Given the description of an element on the screen output the (x, y) to click on. 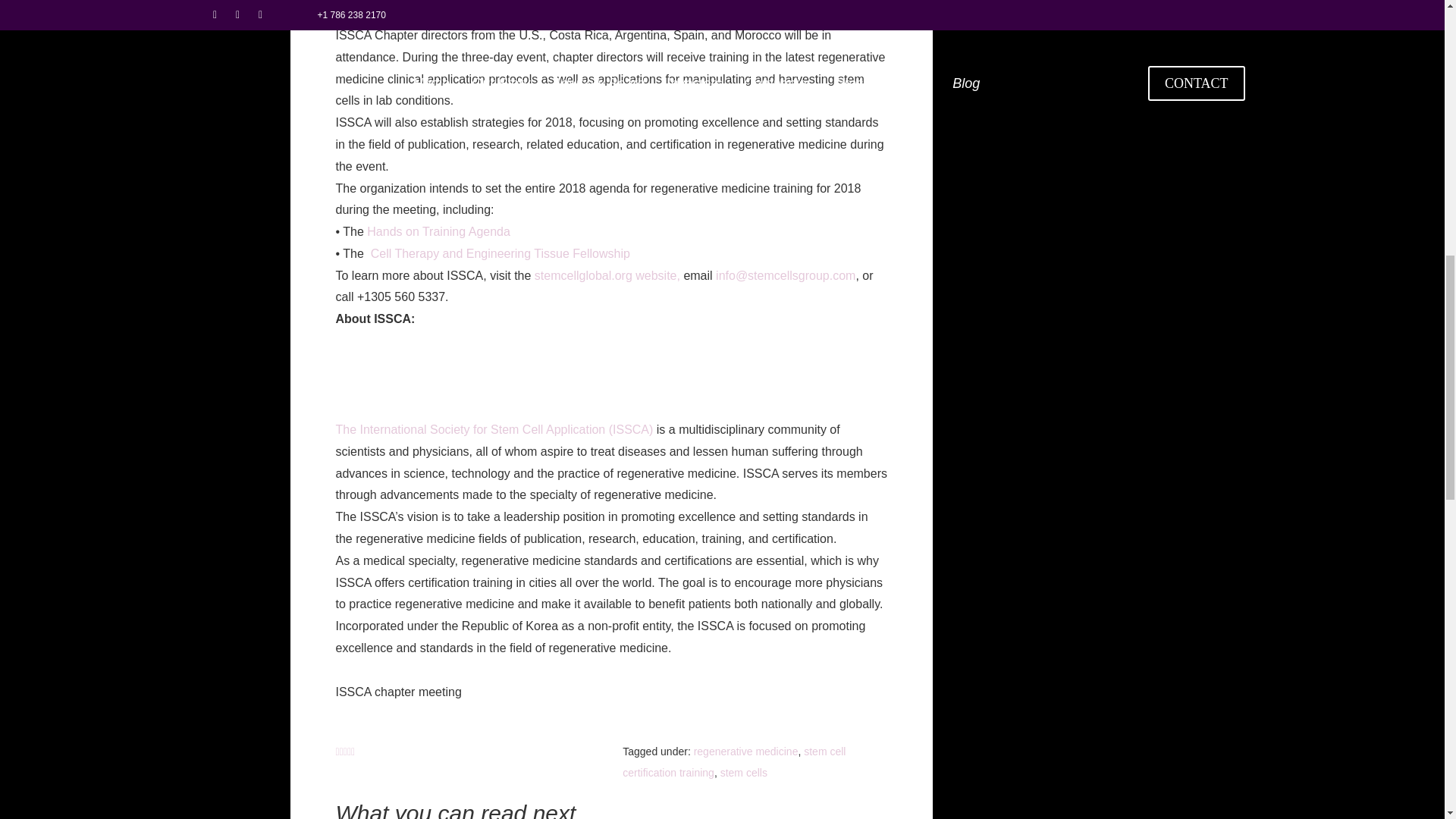
stemcellglobal.org website,  (609, 275)
Hands on Training Agenda (438, 231)
Cell Therapy and Engineering Tissue Fellowship (500, 253)
stem cells (743, 772)
stem cell certification training (734, 761)
regenerative medicine (745, 751)
